Given the description of an element on the screen output the (x, y) to click on. 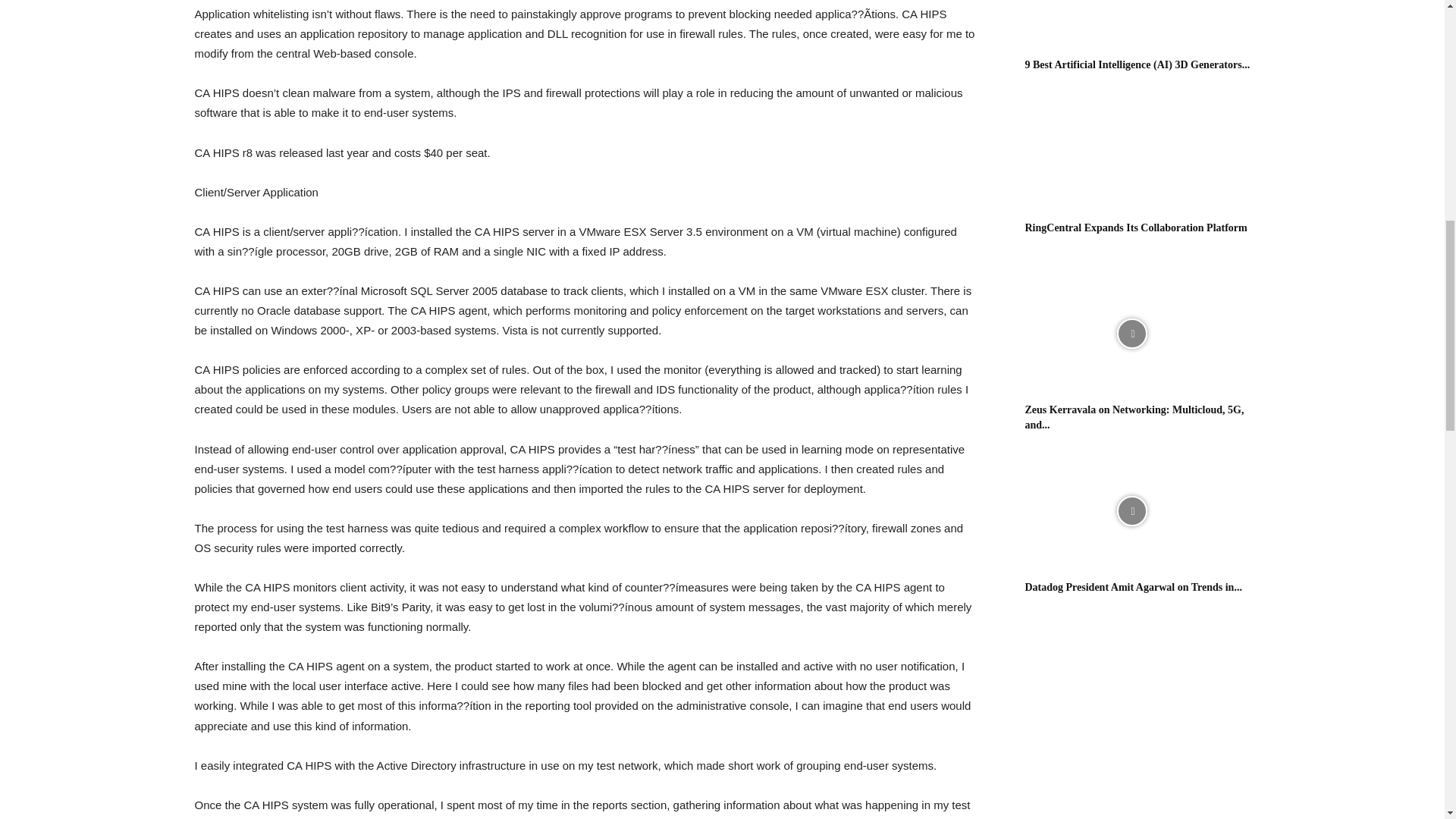
Zeus Kerravala on Networking: Multicloud, 5G, and Automation (1134, 417)
RingCentral Expands Its Collaboration Platform (1136, 227)
Zeus Kerravala on Networking: Multicloud, 5G, and Automation (1131, 333)
RingCentral Expands Its Collaboration Platform (1131, 151)
